Given the description of an element on the screen output the (x, y) to click on. 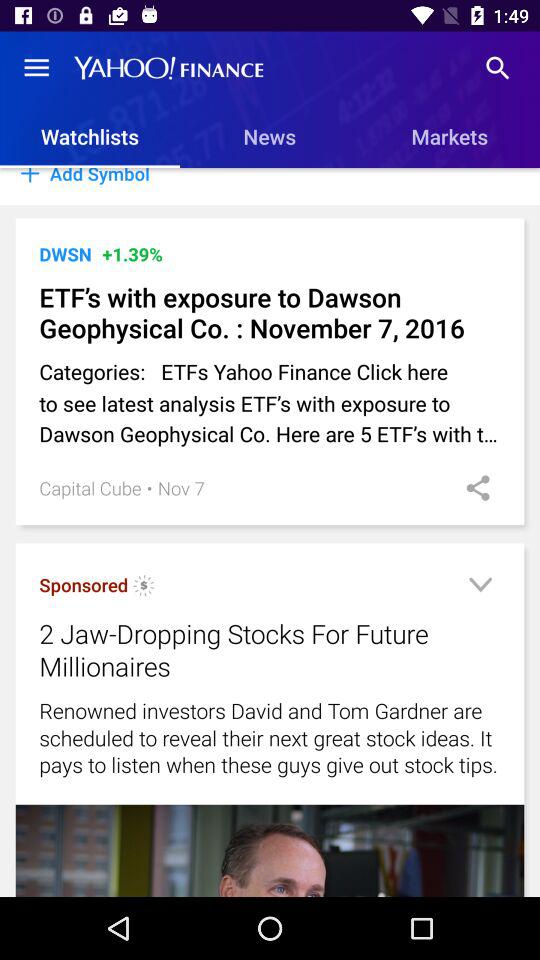
open menu (480, 587)
